Given the description of an element on the screen output the (x, y) to click on. 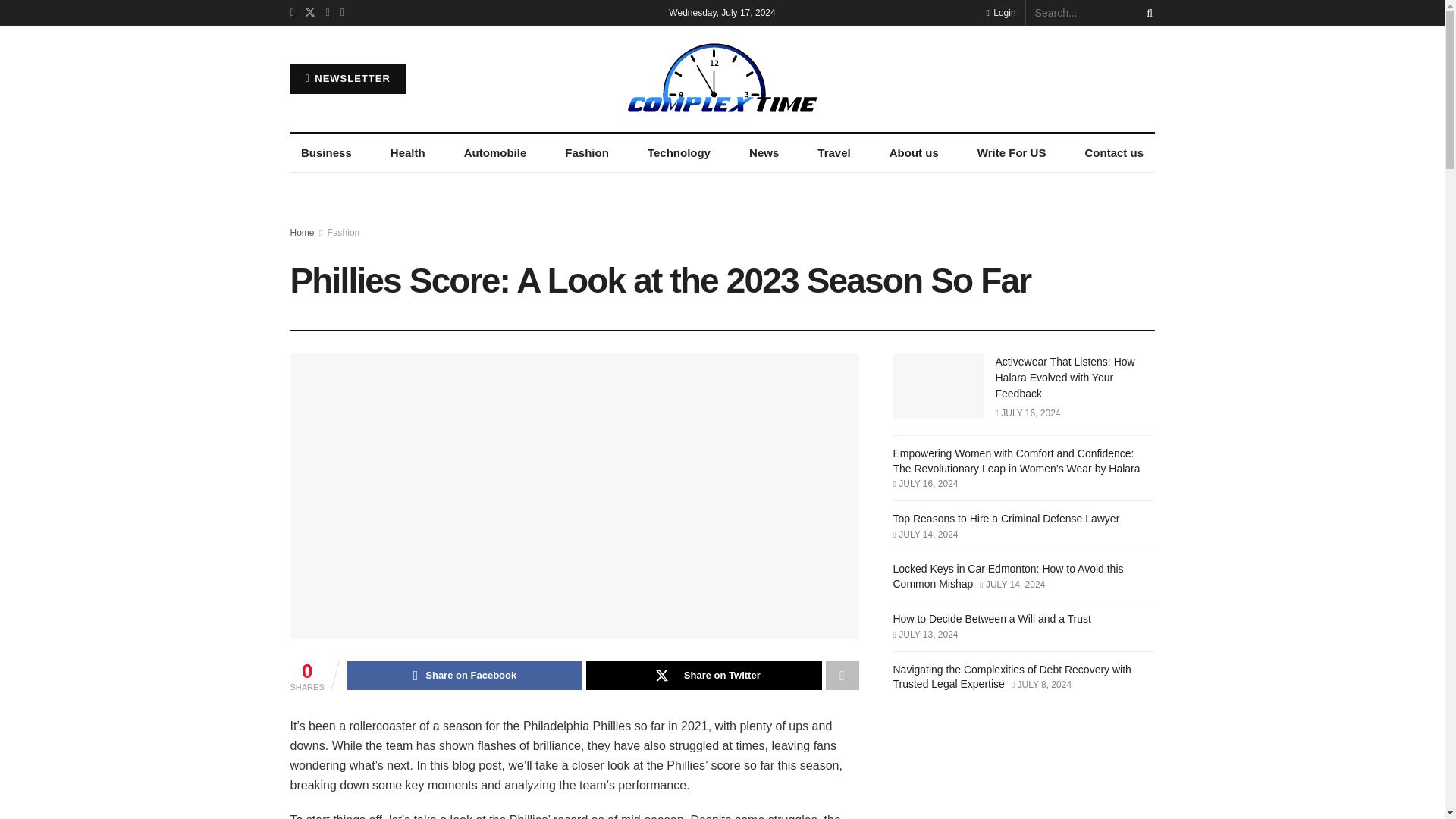
Fashion (343, 232)
Business (325, 152)
Share on Facebook (464, 675)
News (764, 152)
About us (913, 152)
Contact us (1114, 152)
Fashion (587, 152)
Automobile (494, 152)
Technology (678, 152)
Health (406, 152)
Travel (833, 152)
NEWSLETTER (346, 78)
Home (301, 232)
Login (999, 12)
Write For US (1011, 152)
